Given the description of an element on the screen output the (x, y) to click on. 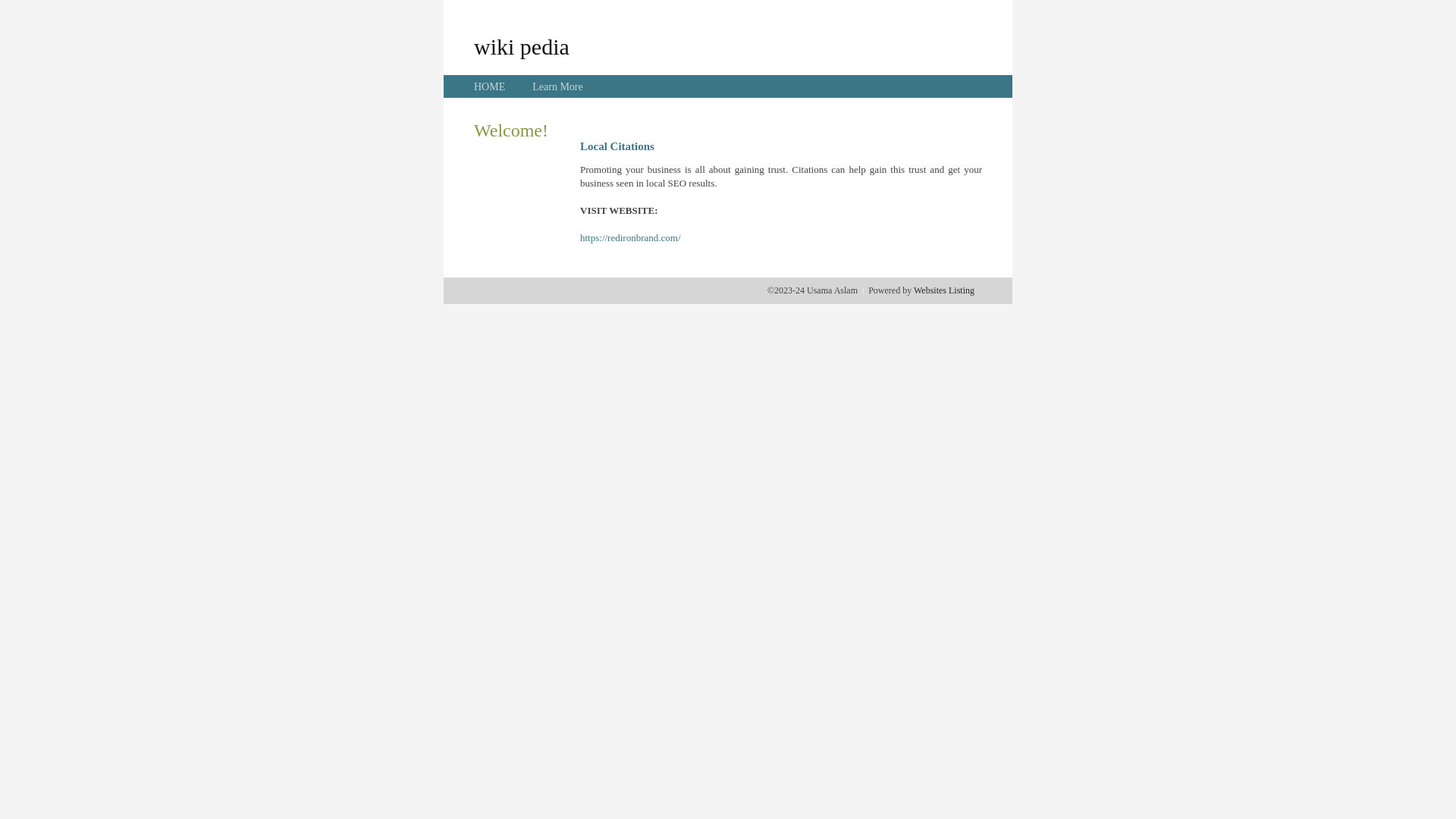
HOME Element type: text (489, 86)
https://redironbrand.com/ Element type: text (630, 237)
Websites Listing Element type: text (943, 290)
Learn More Element type: text (557, 86)
wiki pedia Element type: text (521, 46)
